Given the description of an element on the screen output the (x, y) to click on. 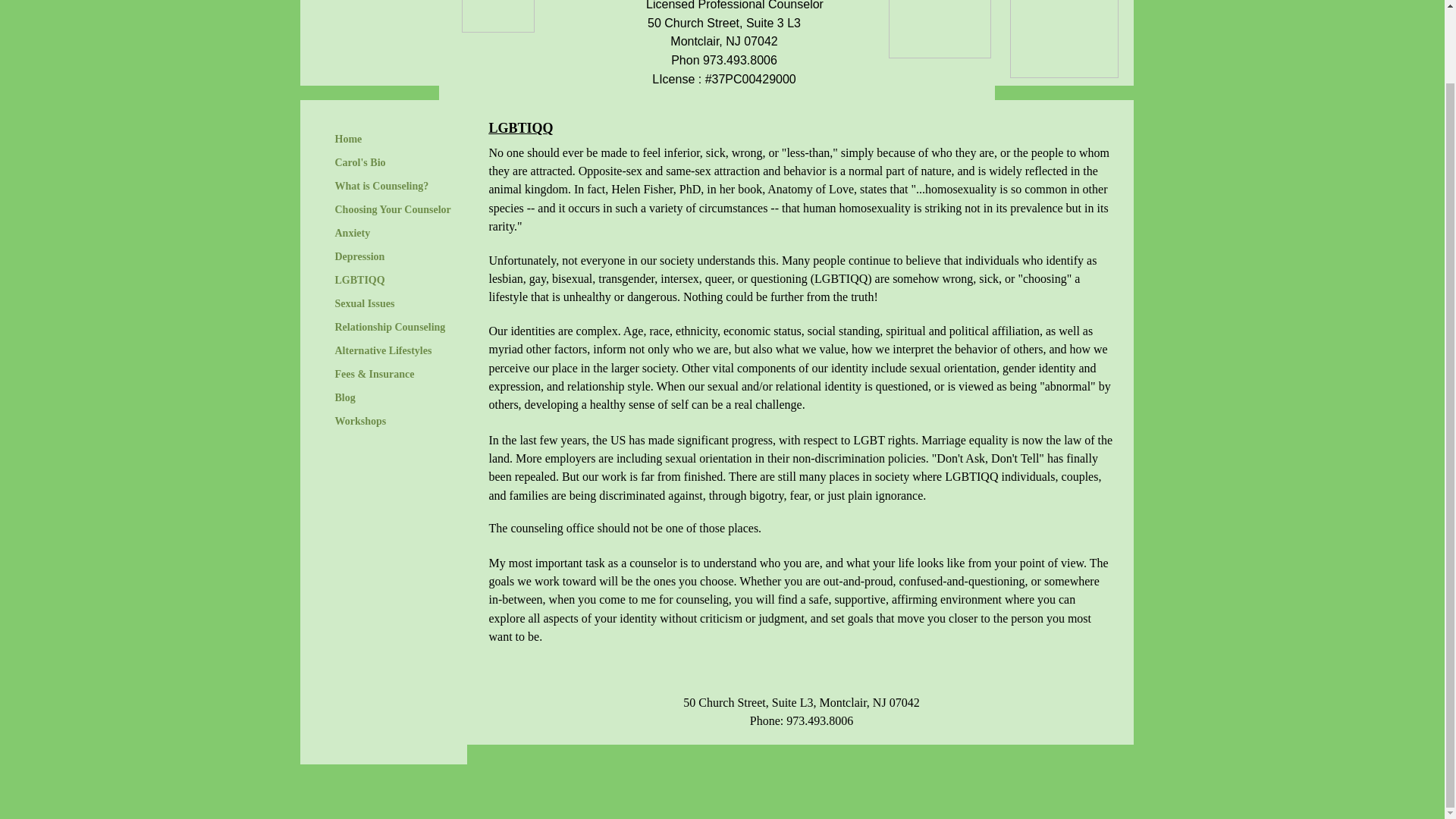
Alternative Lifestyles (383, 350)
Blog (344, 397)
Anxiety (352, 233)
What is Counseling? (381, 186)
Relationship Counseling (389, 327)
LGBTIQQ (360, 280)
Choosing Your Counselor (392, 209)
Sexual Issues (365, 303)
Home (348, 138)
Depression (360, 256)
Carol's Bio (360, 162)
Workshops (360, 421)
